Given the description of an element on the screen output the (x, y) to click on. 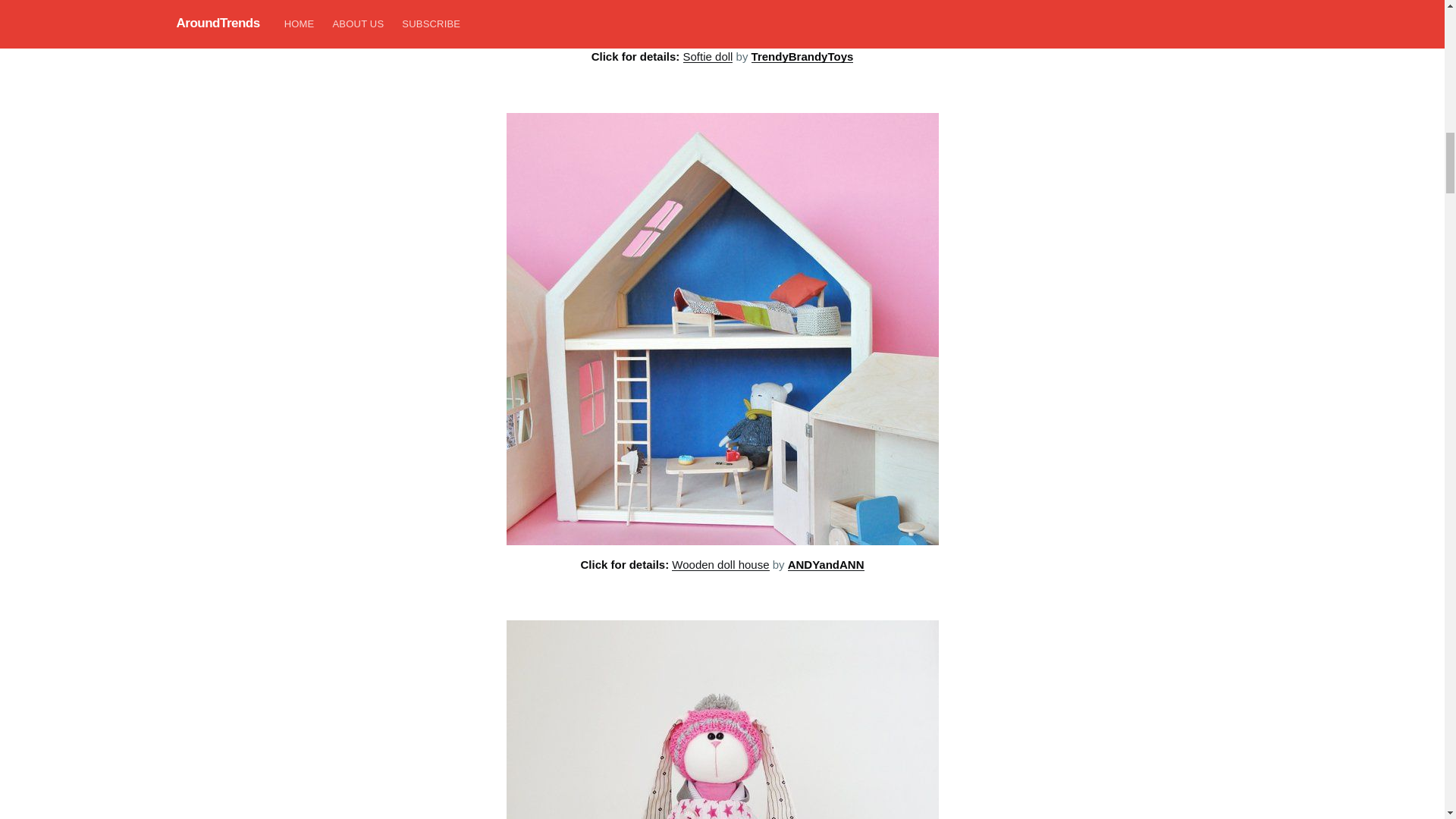
Softie doll (707, 56)
Wooden doll house (719, 563)
TrendyBrandyToys (802, 56)
ANDYandANN (825, 563)
